Given the description of an element on the screen output the (x, y) to click on. 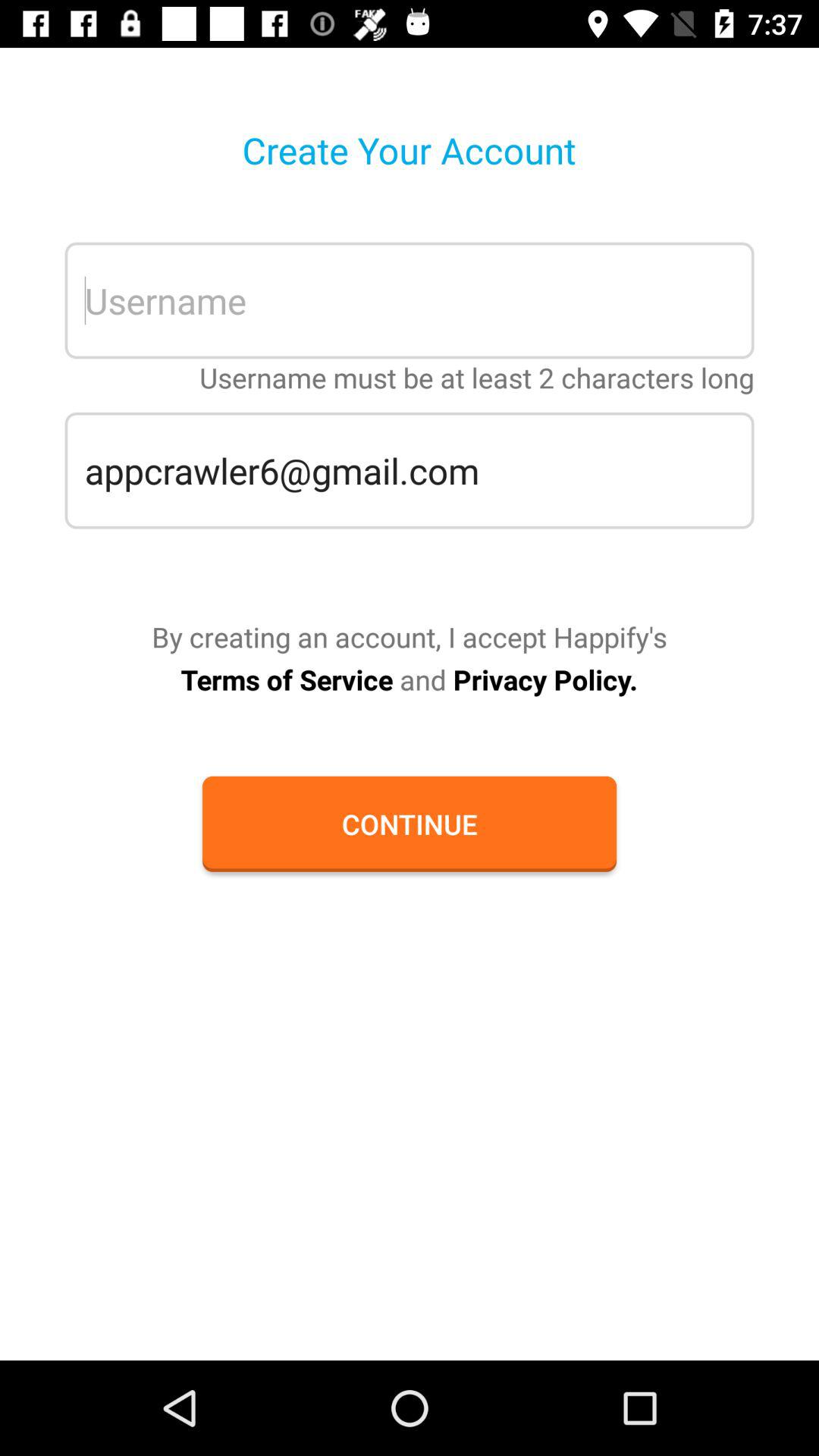
tap the appcrawler6@gmail.com icon (409, 470)
